Given the description of an element on the screen output the (x, y) to click on. 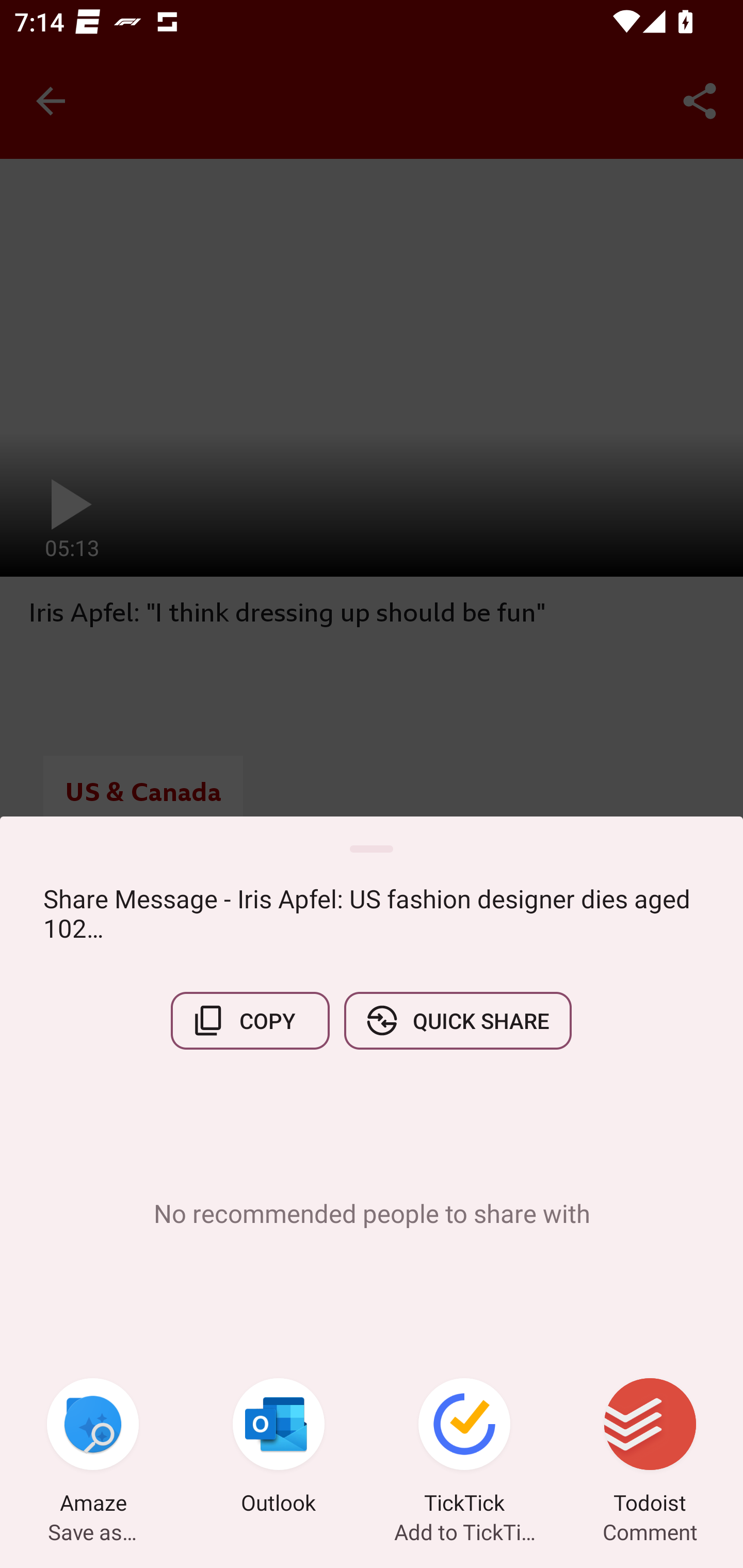
COPY (249, 1020)
QUICK SHARE (457, 1020)
Amaze Save as… (92, 1448)
Outlook (278, 1448)
TickTick Add to TickTick (464, 1448)
Todoist Comment (650, 1448)
